Given the description of an element on the screen output the (x, y) to click on. 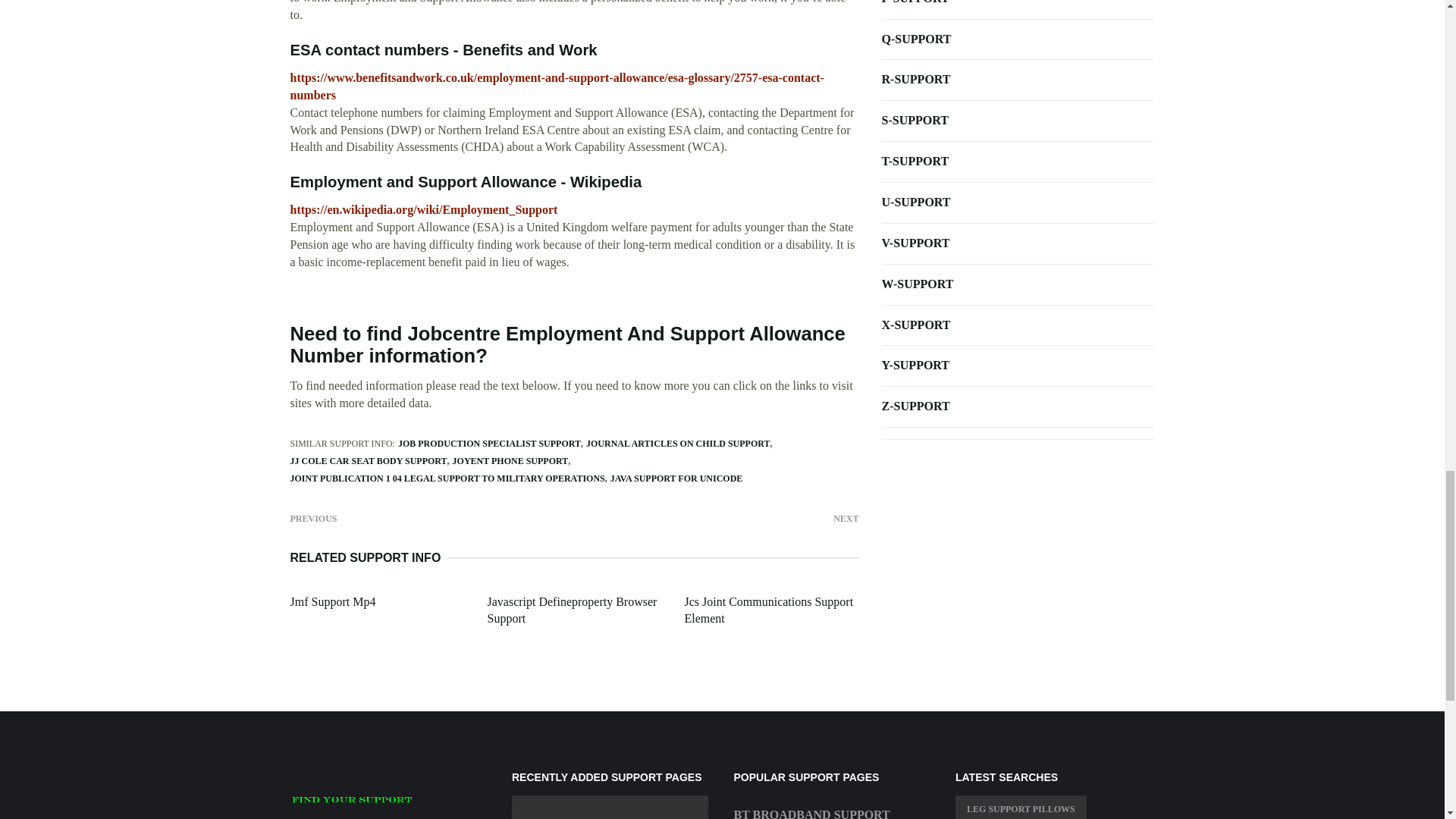
Employment and Support Allowance - Wikipedia (465, 181)
ESA contact numbers - Benefits and Work (442, 49)
JOYENT PHONE SUPPORT (510, 460)
JJ COLE CAR SEAT BODY SUPPORT (367, 460)
PREVIOUS (312, 517)
JOURNAL ARTICLES ON CHILD SUPPORT (678, 443)
JOINT PUBLICATION 1 04 LEGAL SUPPORT TO MILITARY OPERATIONS (446, 478)
JOB PRODUCTION SPECIALIST SUPPORT (488, 443)
JAVA SUPPORT FOR UNICODE (676, 478)
Javascript Defineproperty Browser Support (571, 610)
